Given the description of an element on the screen output the (x, y) to click on. 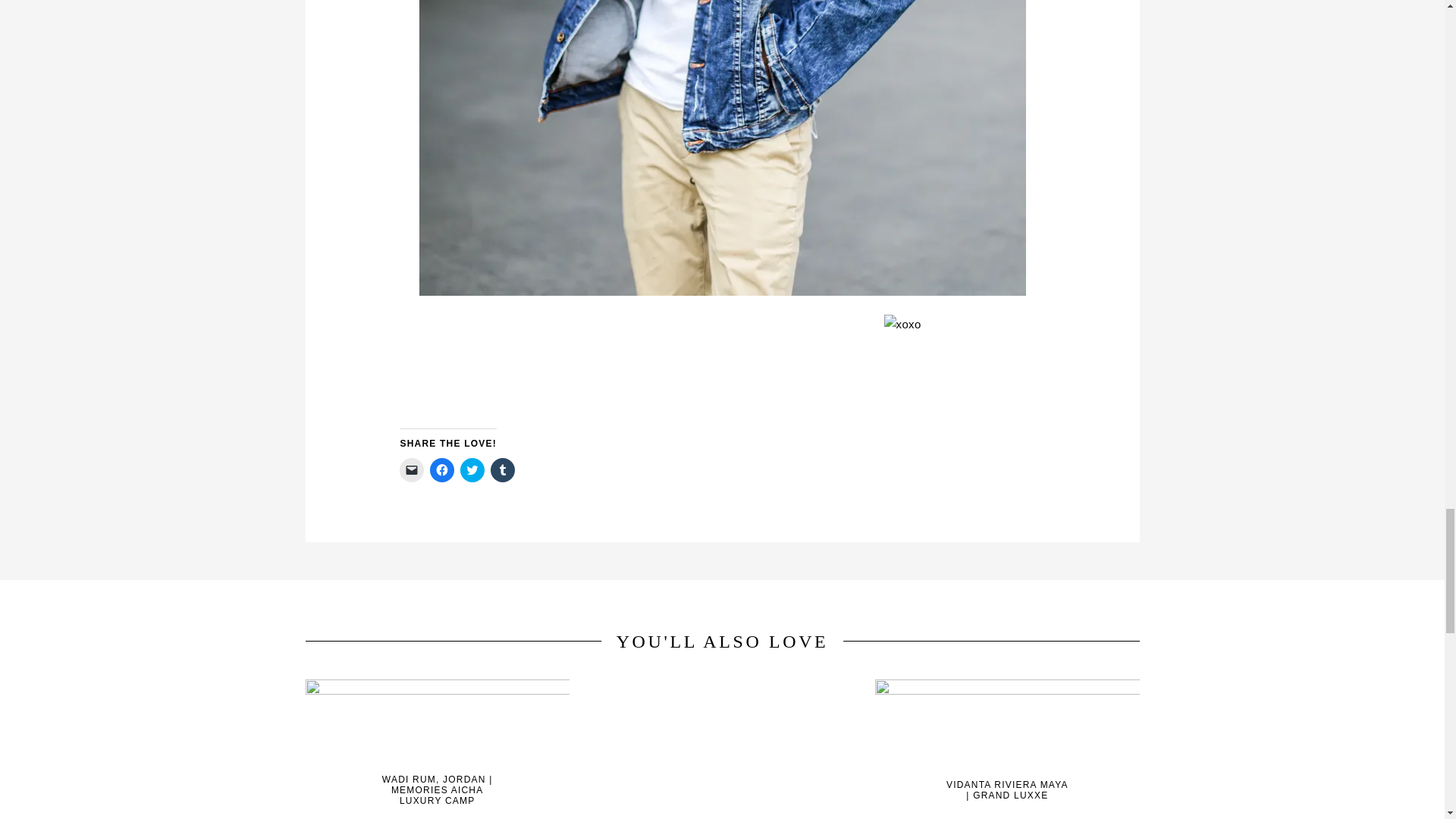
Click to share on Tumblr (502, 469)
Click to email a link to a friend (410, 469)
Click to share on Twitter (472, 469)
Click to share on Facebook (441, 469)
